Given the description of an element on the screen output the (x, y) to click on. 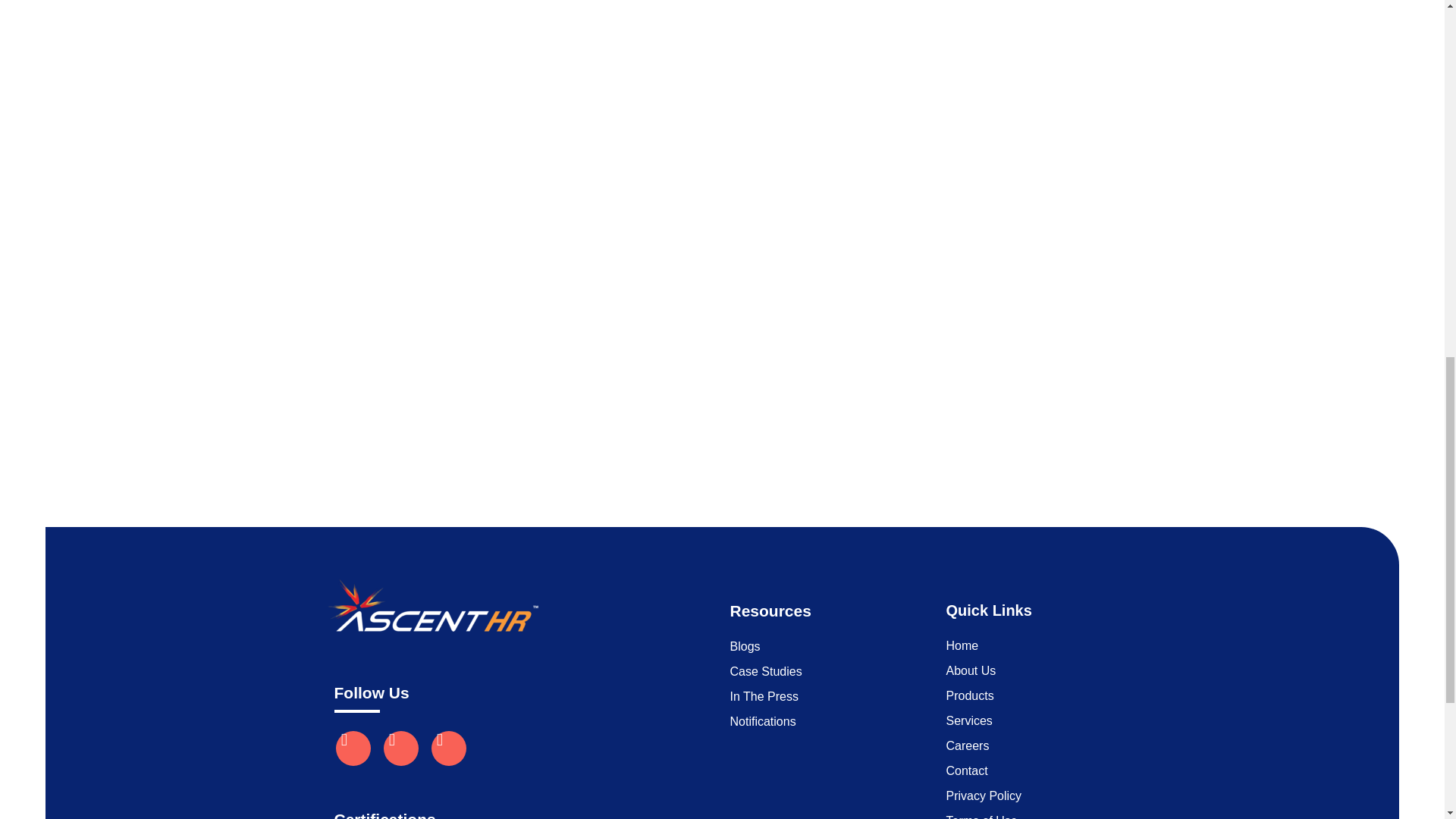
Link to our Facebook page (401, 748)
Link to our Twitter page (447, 748)
Link to our Linkedin page (351, 748)
